Given the description of an element on the screen output the (x, y) to click on. 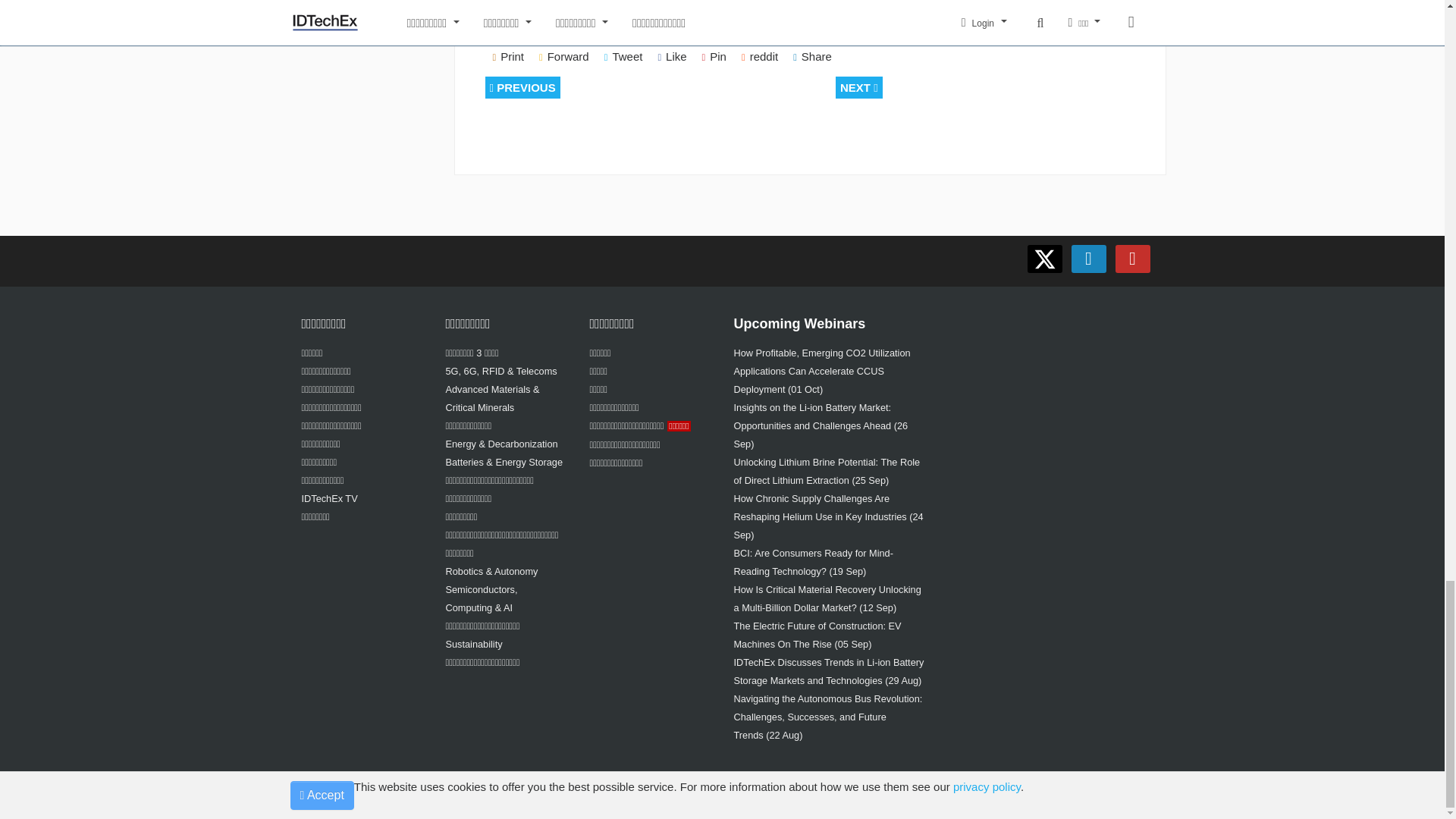
Share on Twitter (623, 57)
Share on LinkedIn (813, 57)
Forward to a Friend (563, 57)
Share on Pinterest (713, 57)
Share on Reddit (759, 57)
IDTechEx TV (329, 498)
Share on Facebook (671, 57)
Print Article (508, 57)
